Given the description of an element on the screen output the (x, y) to click on. 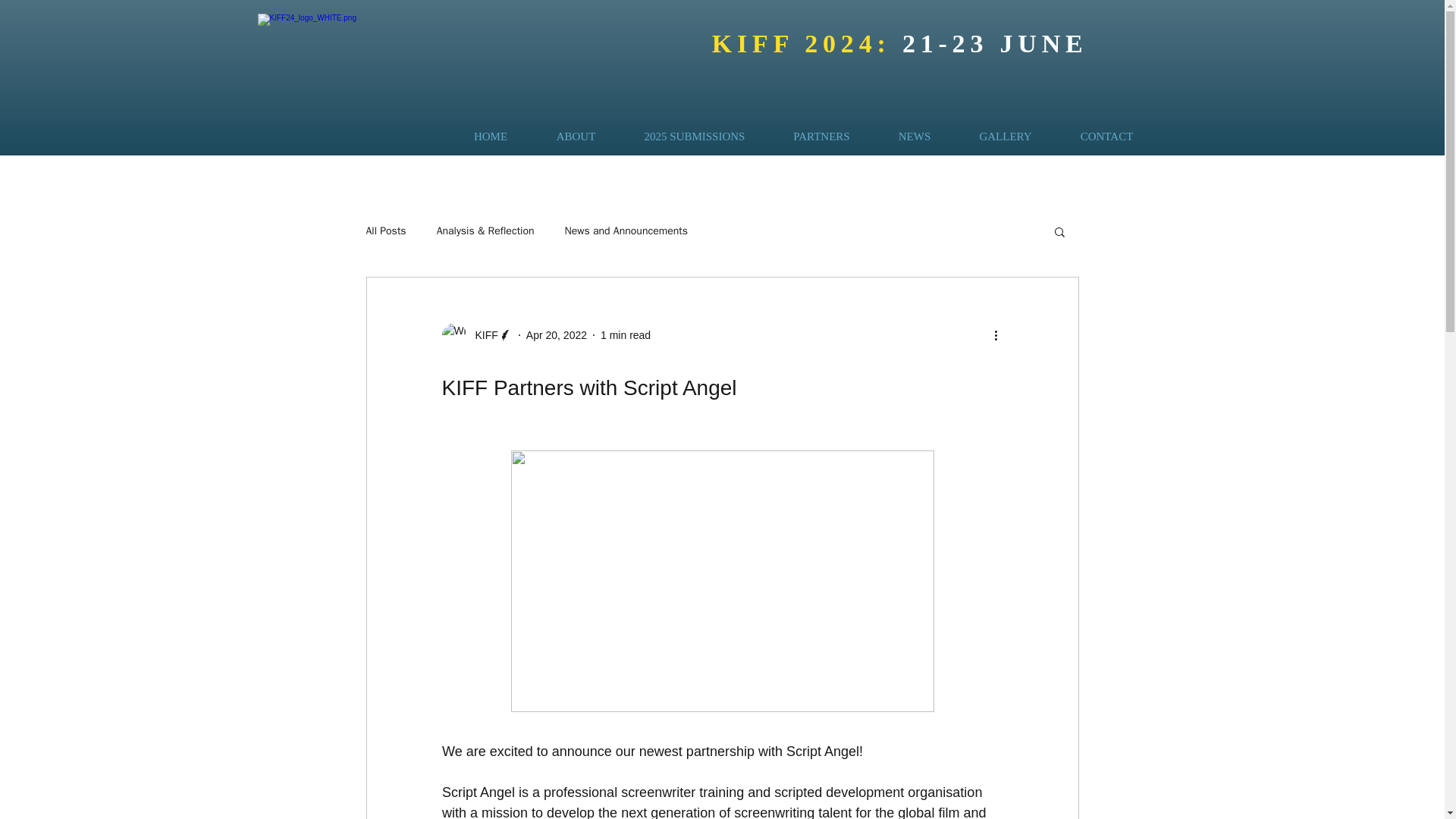
2025 SUBMISSIONS (695, 136)
1 min read (624, 335)
News and Announcements (625, 231)
All Posts (385, 231)
NEWS (914, 136)
CONTACT (1106, 136)
ABOUT (576, 136)
PARTNERS (820, 136)
Apr 20, 2022 (555, 335)
KIFF (481, 335)
KIFF (476, 334)
GALLERY (1006, 136)
HOME (489, 136)
